Given the description of an element on the screen output the (x, y) to click on. 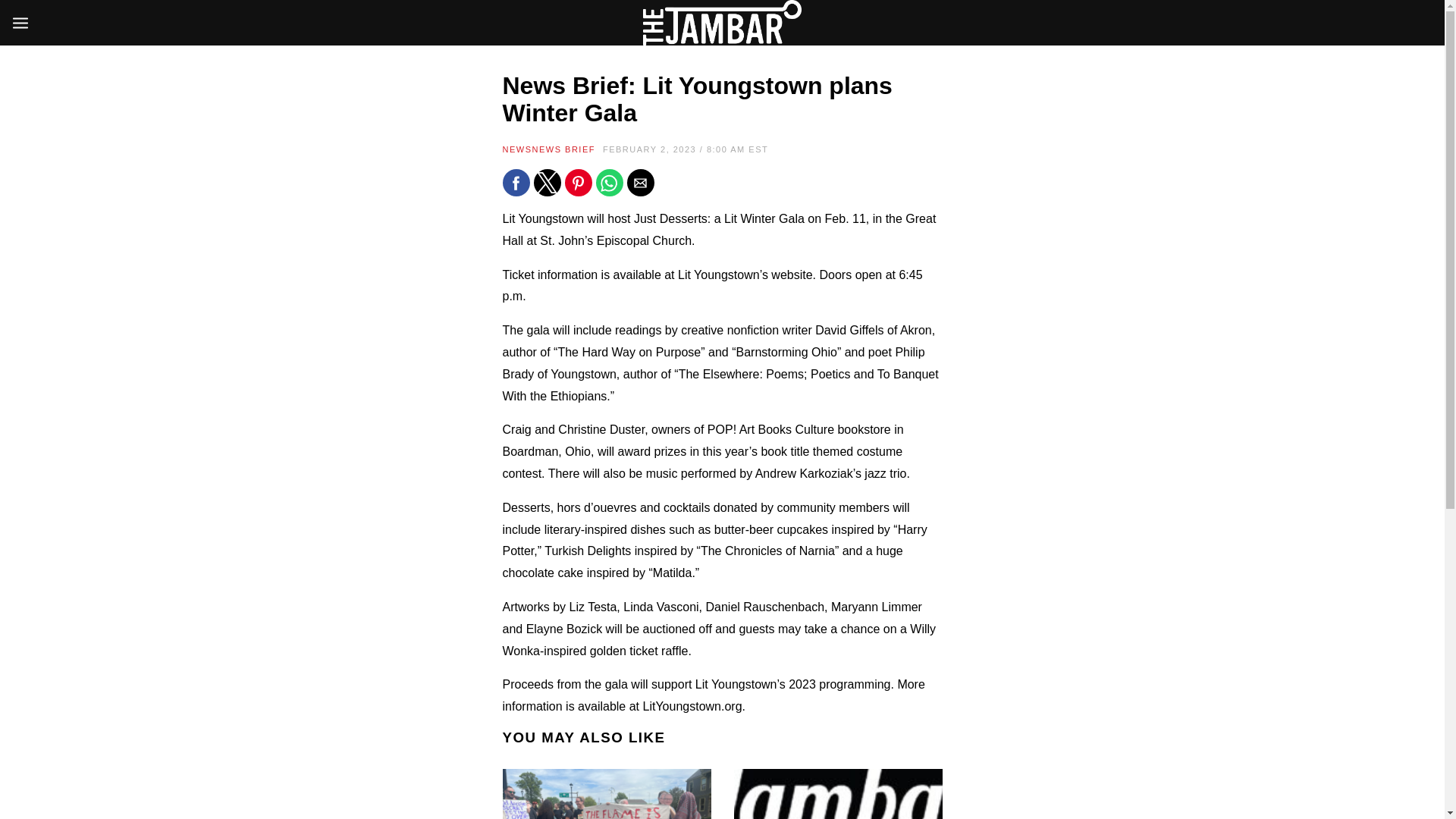
View all posts in News Brief (563, 148)
View all posts in News (516, 148)
NEWS (516, 148)
NEWS BRIEF (563, 148)
